Given the description of an element on the screen output the (x, y) to click on. 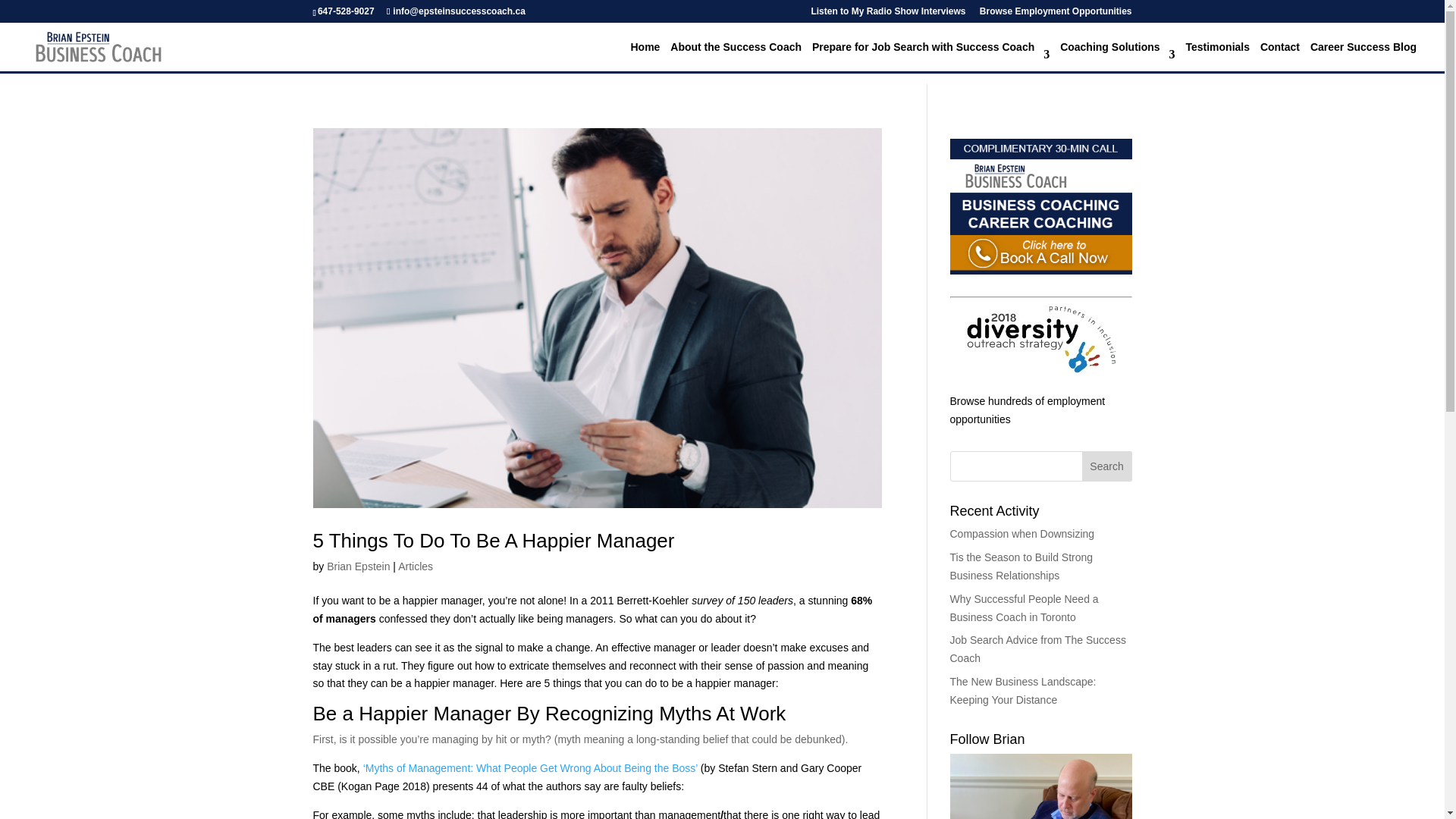
Listen to My Radio Show Interviews (887, 14)
Career Success Blog (1363, 56)
Home (645, 56)
Prepare for Job Search with Success Coach (930, 56)
Search (1106, 466)
5 Things To Do To Be A Happier Manager (493, 540)
About the Success Coach (735, 56)
Brian Epstein (358, 566)
Posts by Brian Epstein (358, 566)
Contact (1280, 56)
